Given the description of an element on the screen output the (x, y) to click on. 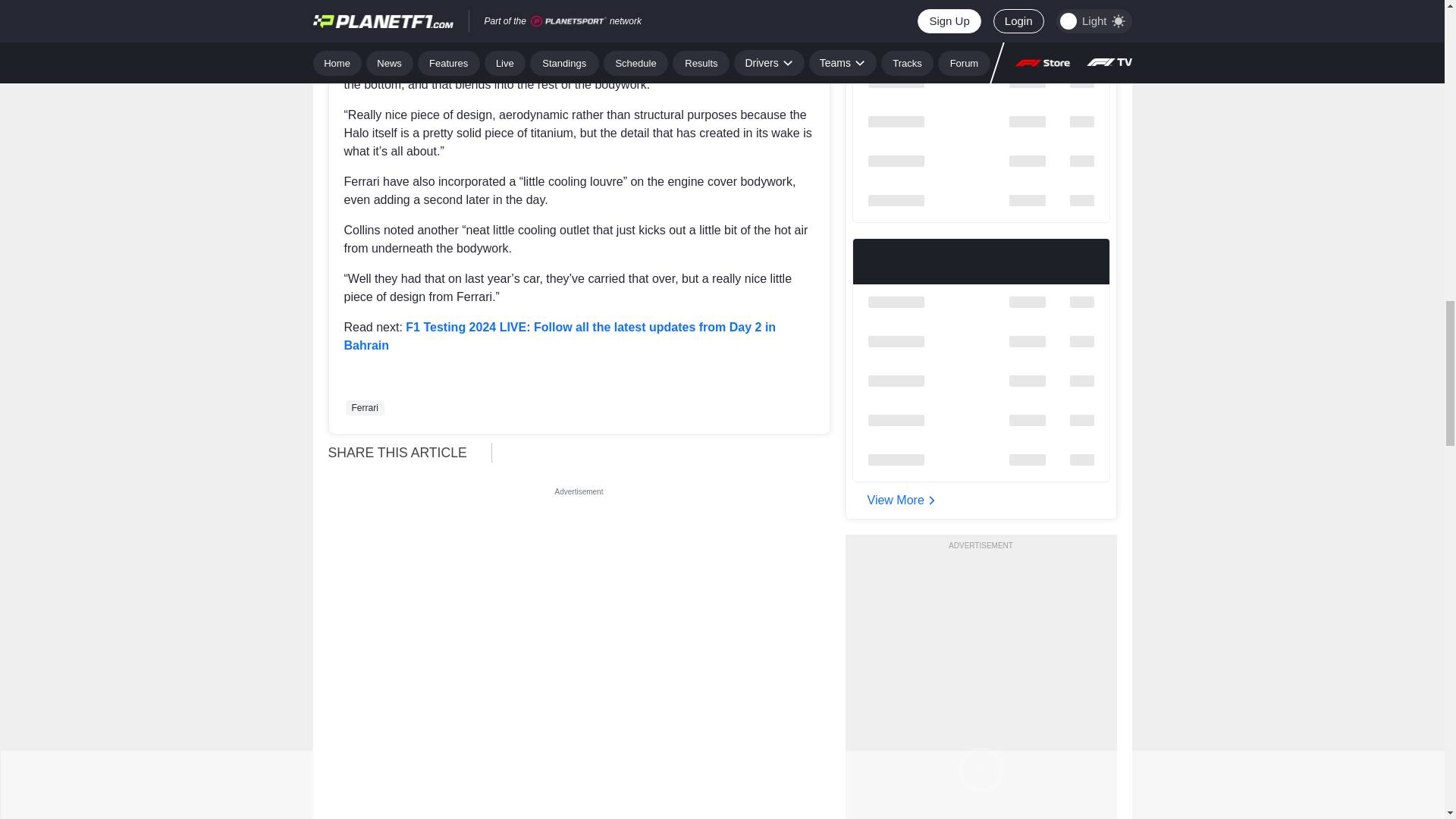
Vuukle Sharebar Widget (666, 451)
3rd party ad content (579, 595)
Vuukle Comments Widget (578, 778)
